Given the description of an element on the screen output the (x, y) to click on. 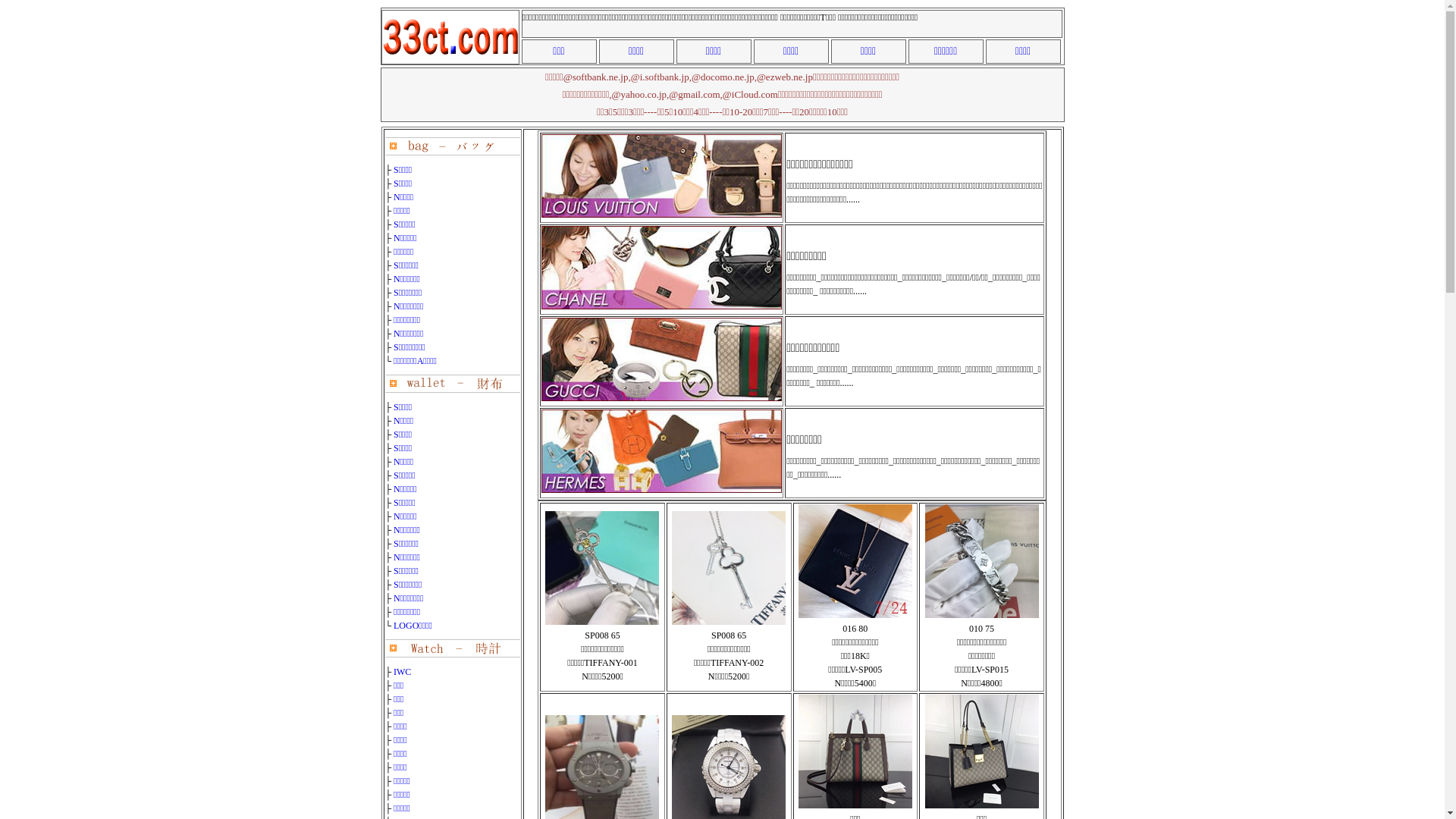
IWC Element type: text (402, 671)
